Given the description of an element on the screen output the (x, y) to click on. 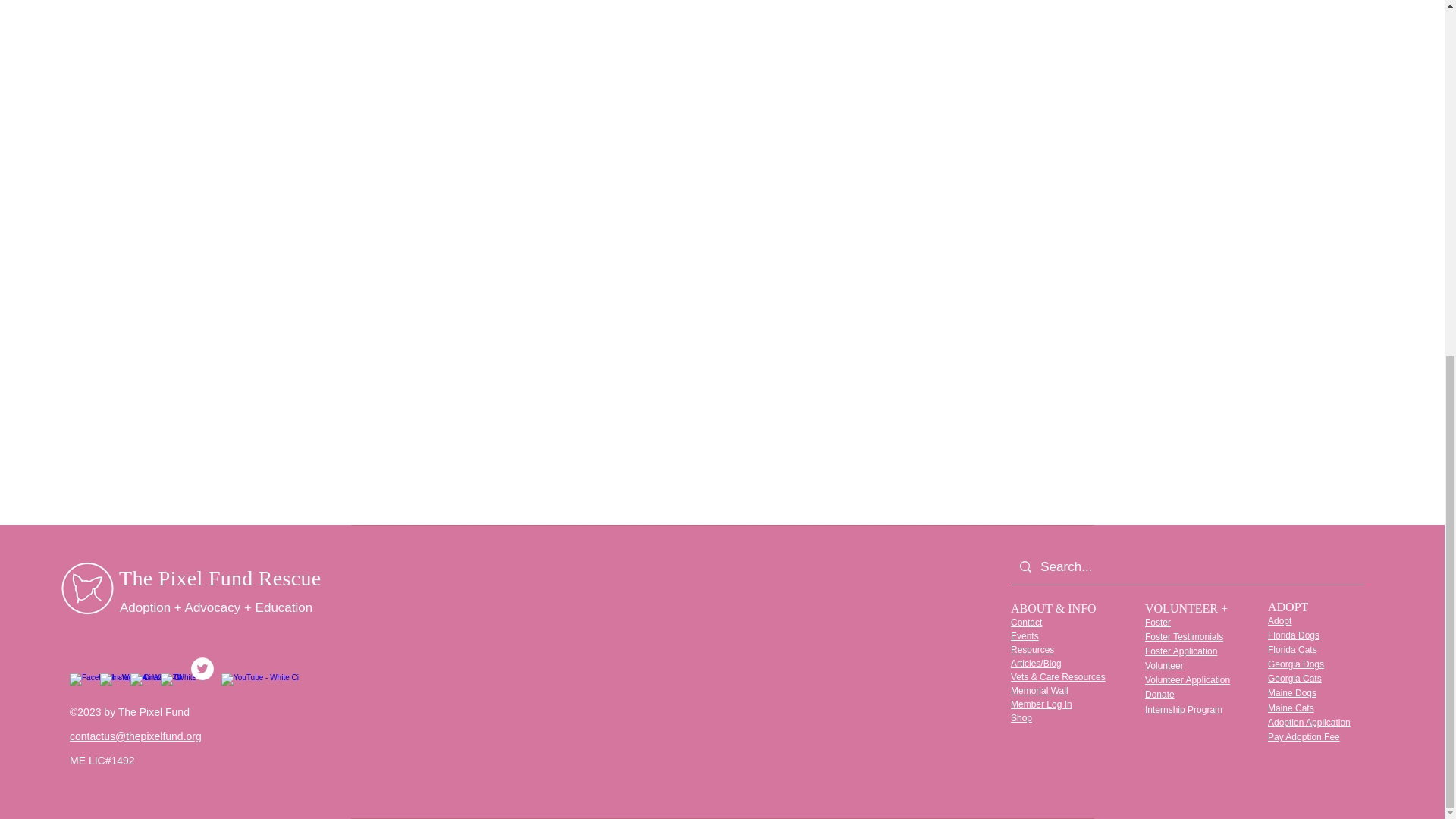
The Pixel Fund Rescue (219, 577)
Contact (1026, 621)
Resources (1032, 648)
Events (1024, 634)
